Given the description of an element on the screen output the (x, y) to click on. 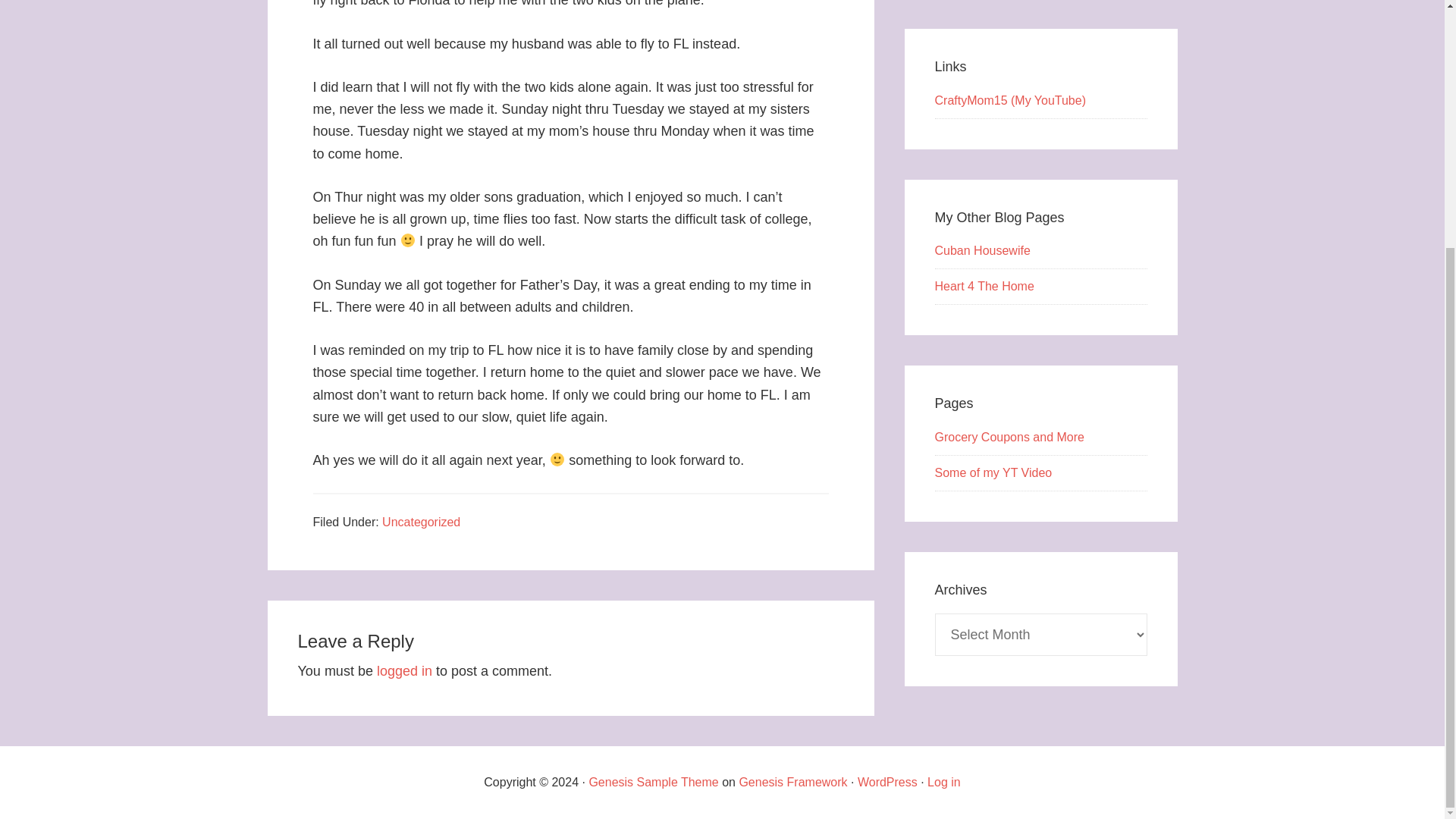
Uncategorized (420, 521)
Genesis Sample Theme (652, 781)
Genesis Framework (792, 781)
WordPress (887, 781)
Grocery Coupons and More (1008, 436)
Cuban Housewife (981, 250)
Some of my YT Video (992, 472)
logged in (404, 670)
Heart 4 The Home (983, 286)
Log in (943, 781)
